Given the description of an element on the screen output the (x, y) to click on. 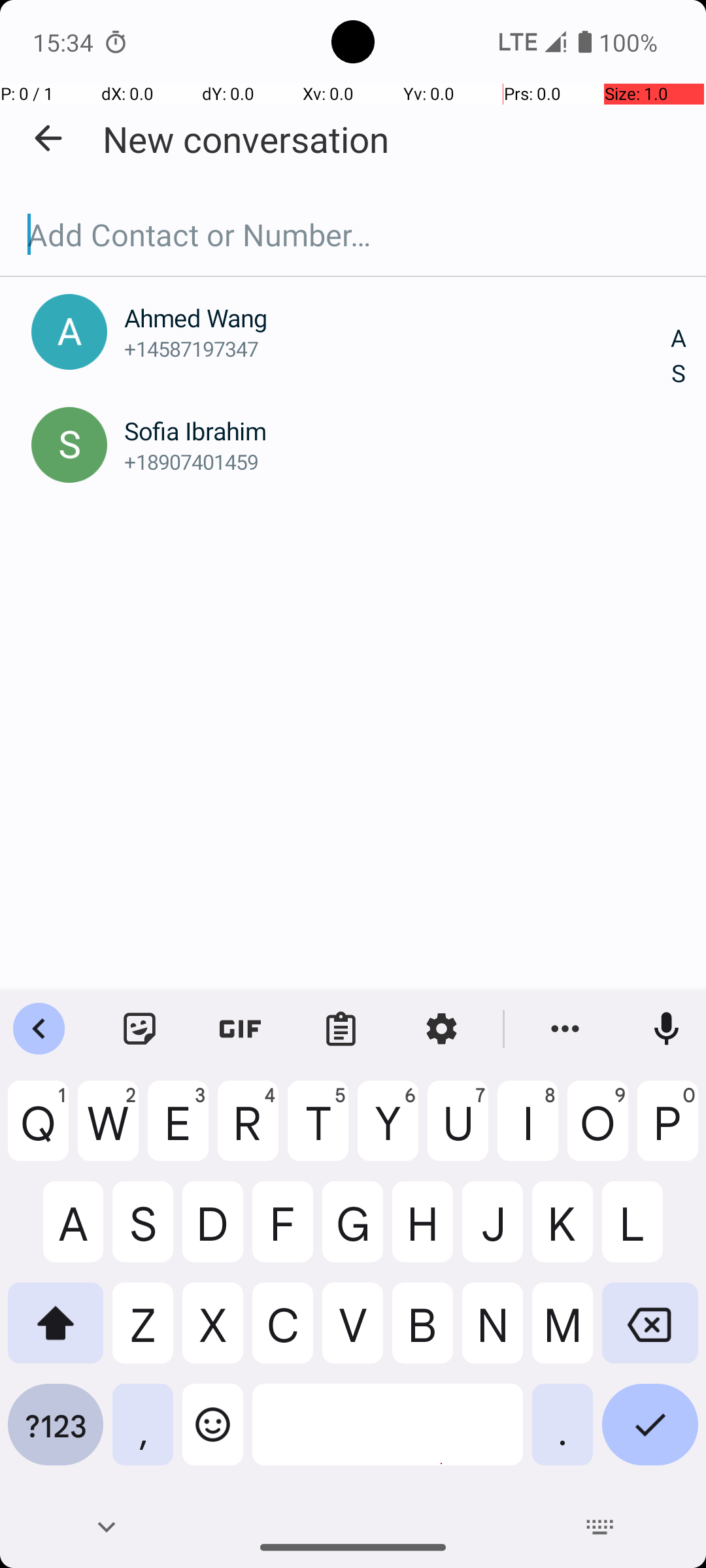
A
S Element type: android.widget.TextView (678, 356)
+14587197347 Element type: android.widget.TextView (397, 348)
+18907401459 Element type: android.widget.TextView (397, 461)
